Given the description of an element on the screen output the (x, y) to click on. 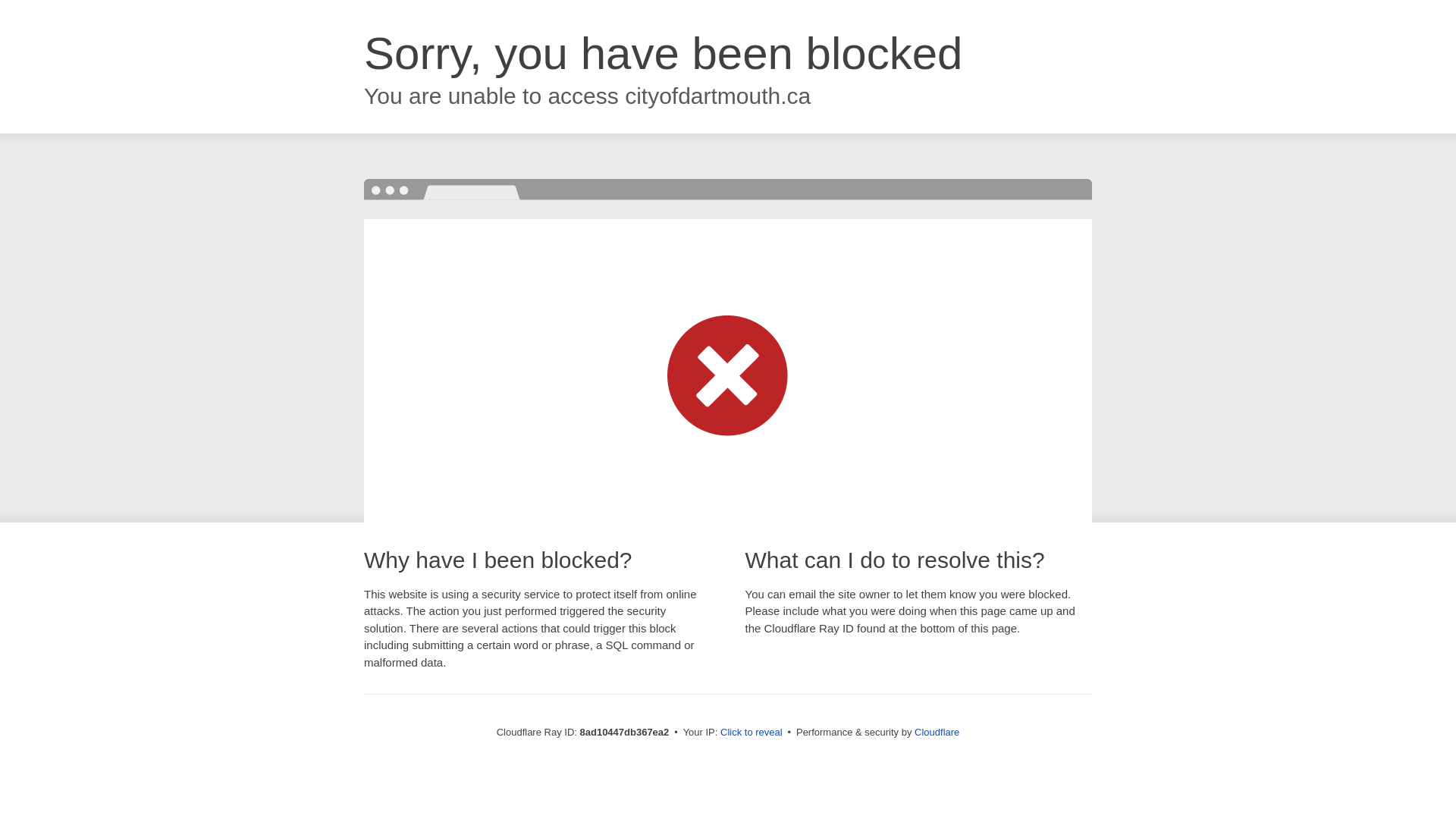
Click to reveal (751, 732)
Cloudflare (936, 731)
